Given the description of an element on the screen output the (x, y) to click on. 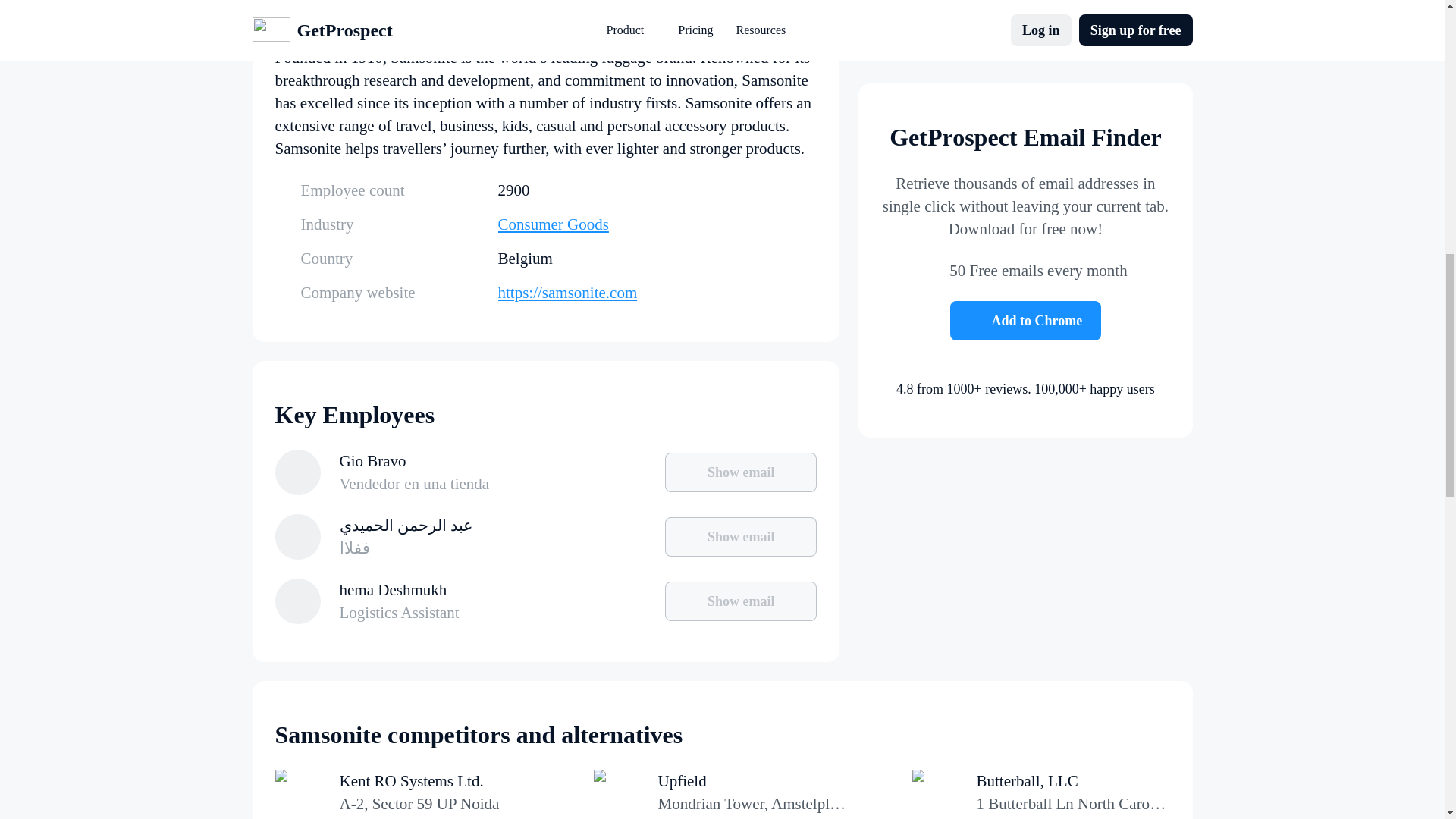
Consumer Goods (656, 223)
Show email (740, 472)
Show email (740, 536)
Show email (740, 600)
Add to Chrome (1026, 194)
